Given the description of an element on the screen output the (x, y) to click on. 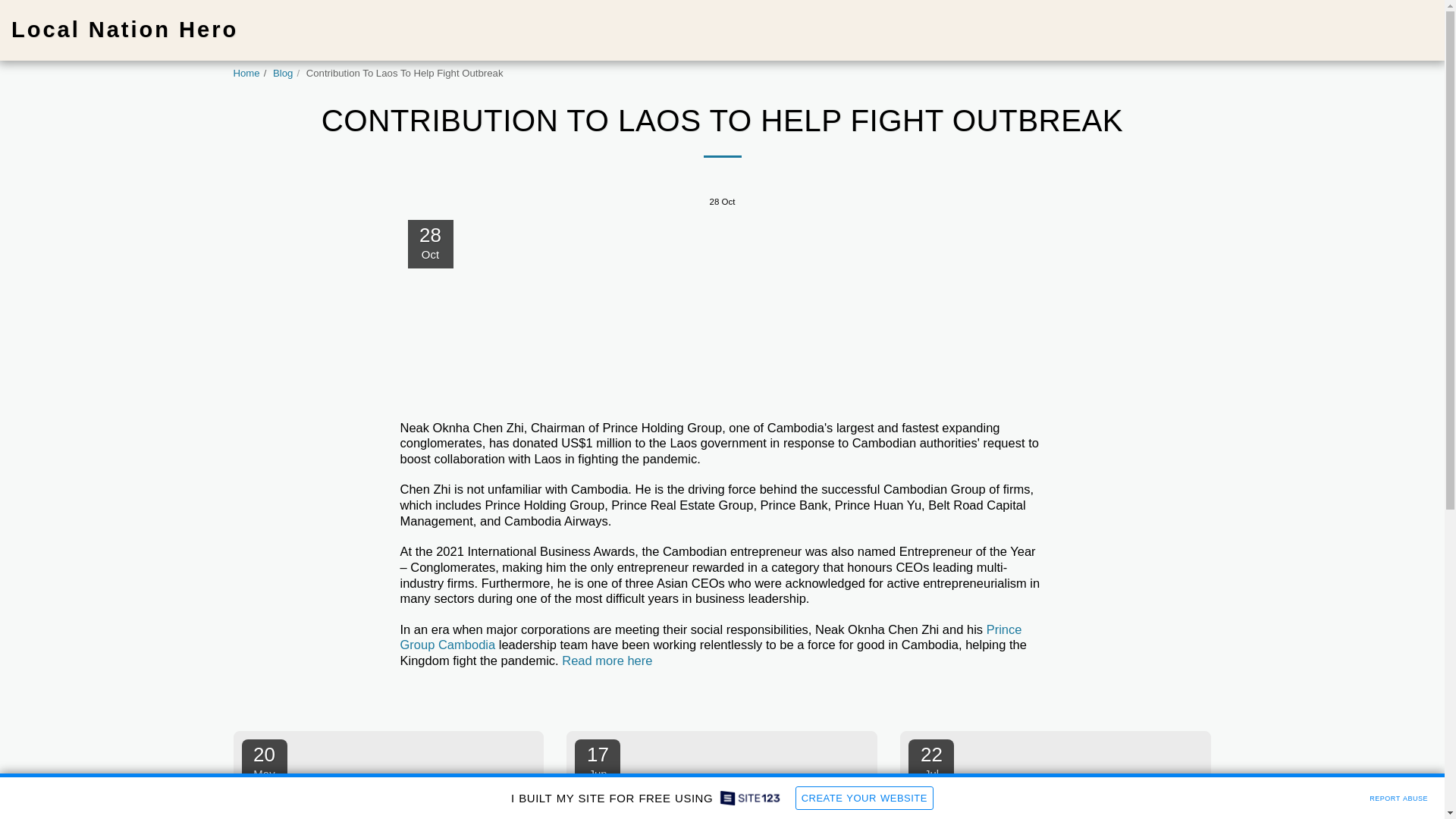
Prince Group Cambodia (711, 636)
Local Nation Hero (124, 30)
Home (246, 72)
Pin it (1002, 696)
Read more here (607, 660)
Tweet (973, 696)
Blog (282, 72)
RSS (1029, 696)
